Given the description of an element on the screen output the (x, y) to click on. 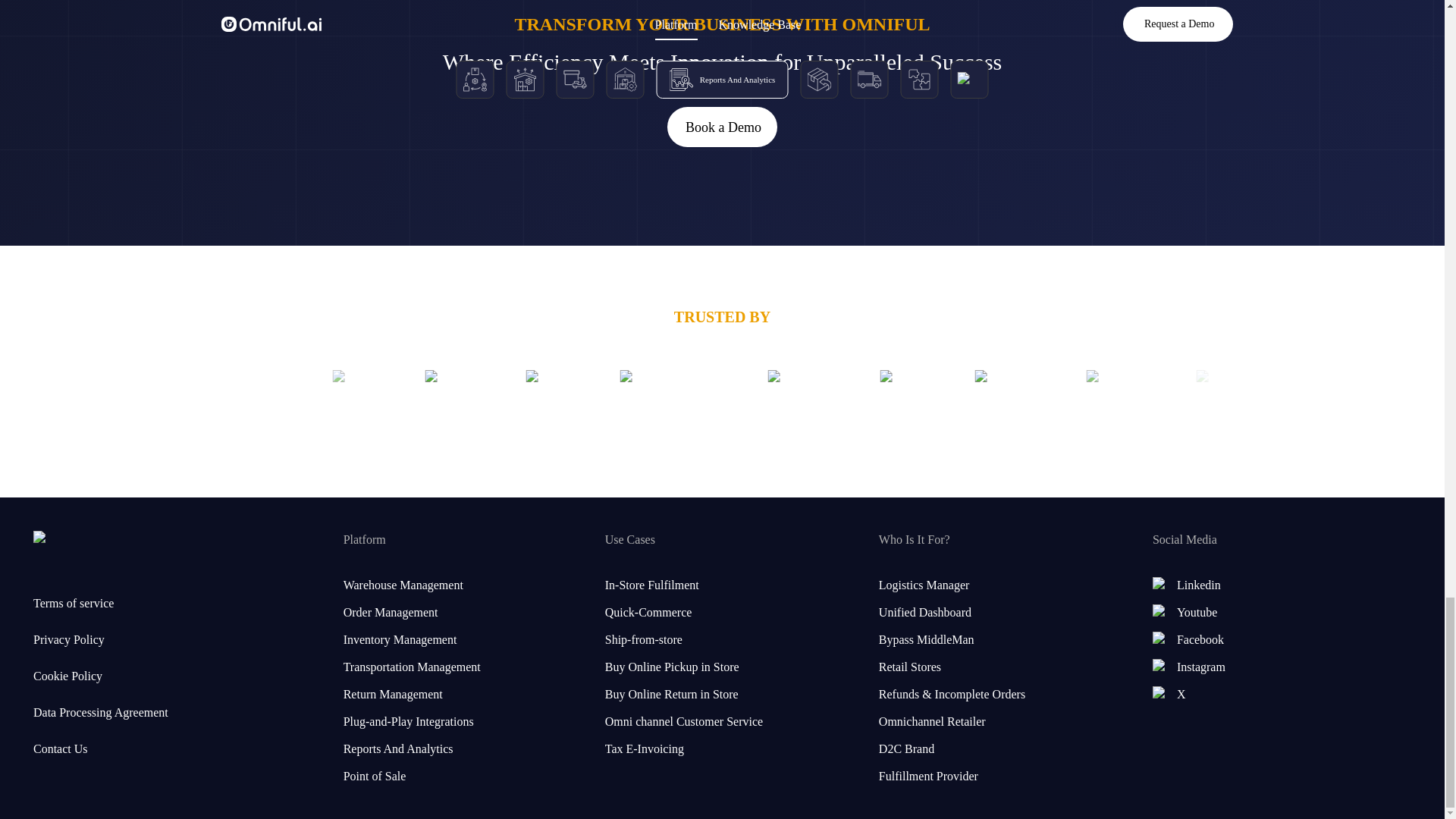
Terms of service (100, 603)
Warehouse Management (460, 585)
Point of Sale (460, 776)
Data Processing Agreement (100, 712)
Privacy Policy (100, 639)
Contact Us (100, 749)
Book a Demo (721, 127)
Book a Demo (721, 127)
Reports And Analytics (460, 749)
Inventory Management (460, 639)
